Given the description of an element on the screen output the (x, y) to click on. 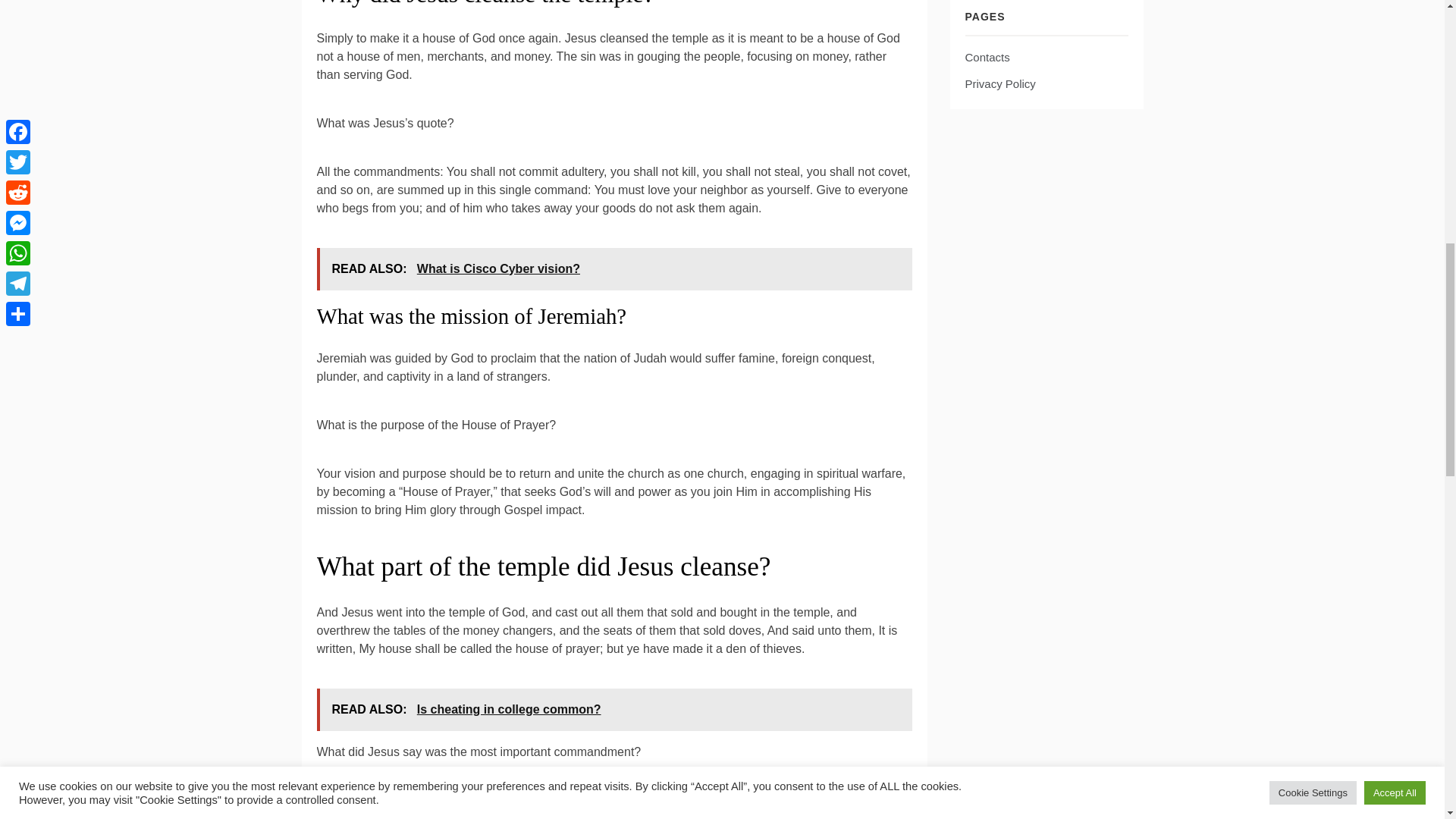
Privacy Policy (999, 83)
Contacts (986, 56)
READ ALSO:   Is cheating in college common? (614, 709)
READ ALSO:   What is Cisco Cyber vision? (614, 269)
